Given the description of an element on the screen output the (x, y) to click on. 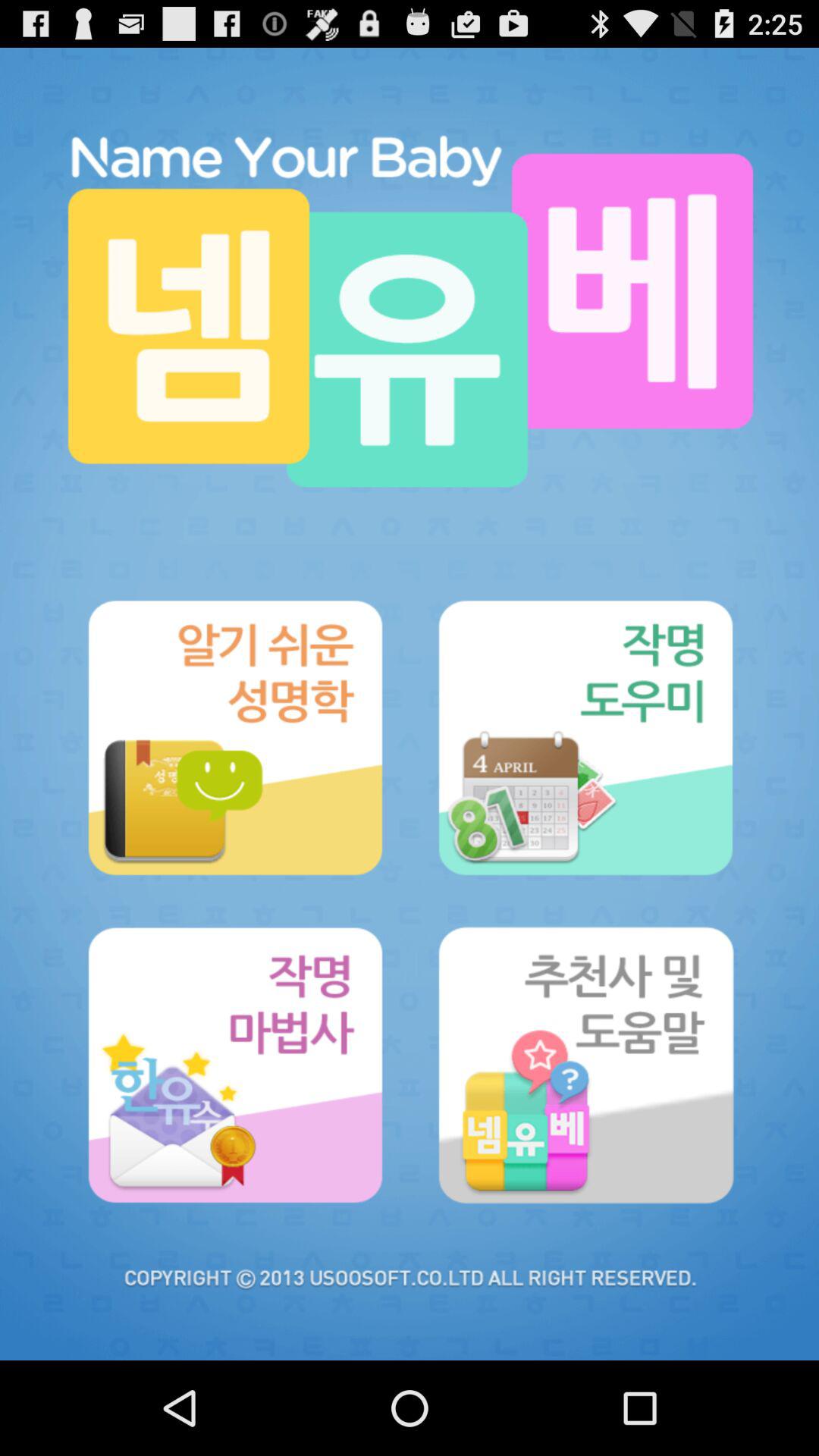
open calander (584, 737)
